Given the description of an element on the screen output the (x, y) to click on. 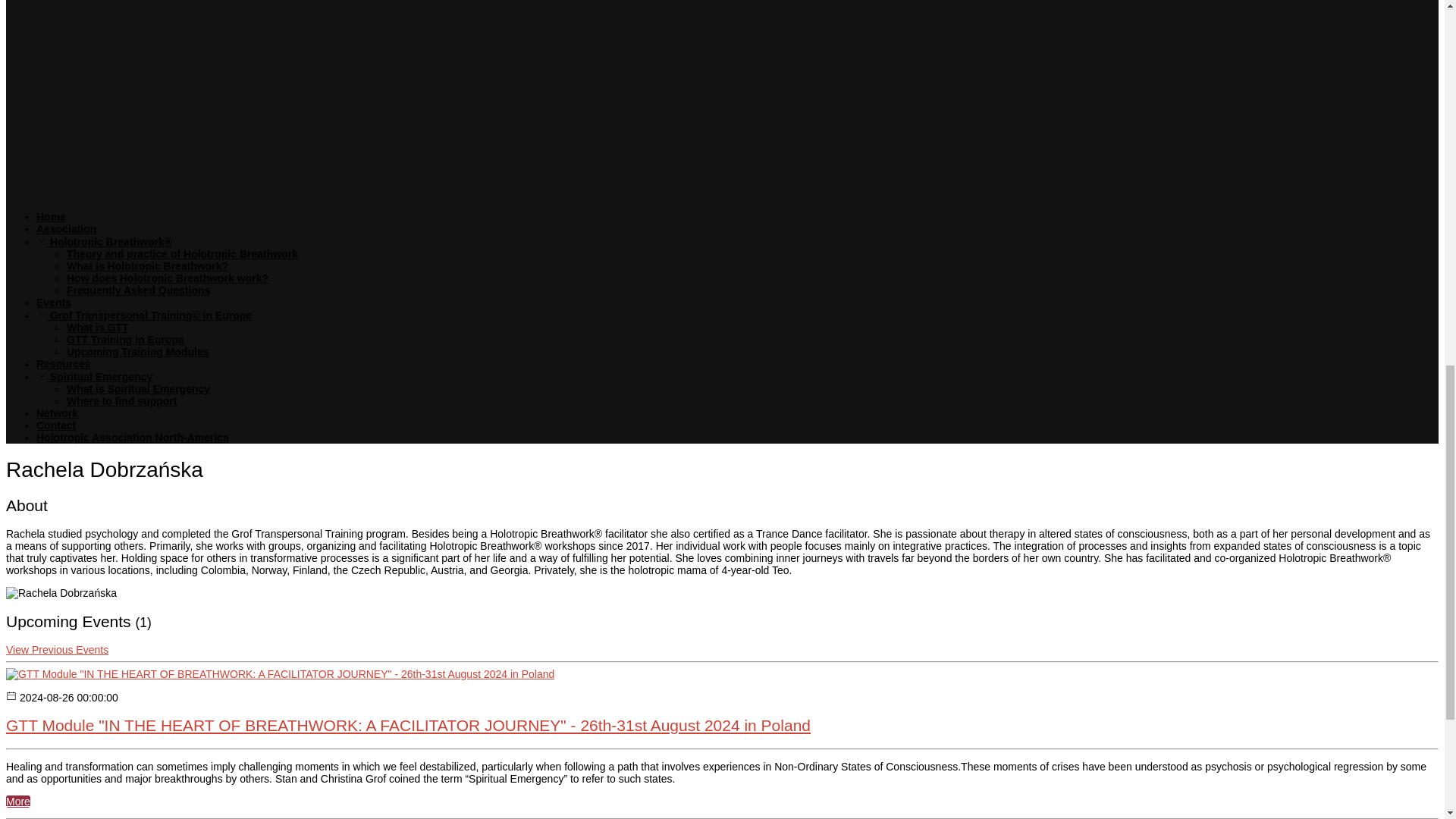
What is GTT (97, 327)
Upcoming Training Modules (137, 351)
Association (66, 228)
How does Holotropic Breathwork work? (166, 277)
Resources (63, 363)
Network (57, 413)
Spiritual Emergency (94, 377)
Events (53, 302)
Theory and practice of Holotropic Breathwork (182, 254)
GTT Training in Europe (125, 339)
Home (50, 216)
Frequently Asked Questions (137, 290)
Where to find support (121, 400)
What is Spiritual Emergency (137, 388)
